Given the description of an element on the screen output the (x, y) to click on. 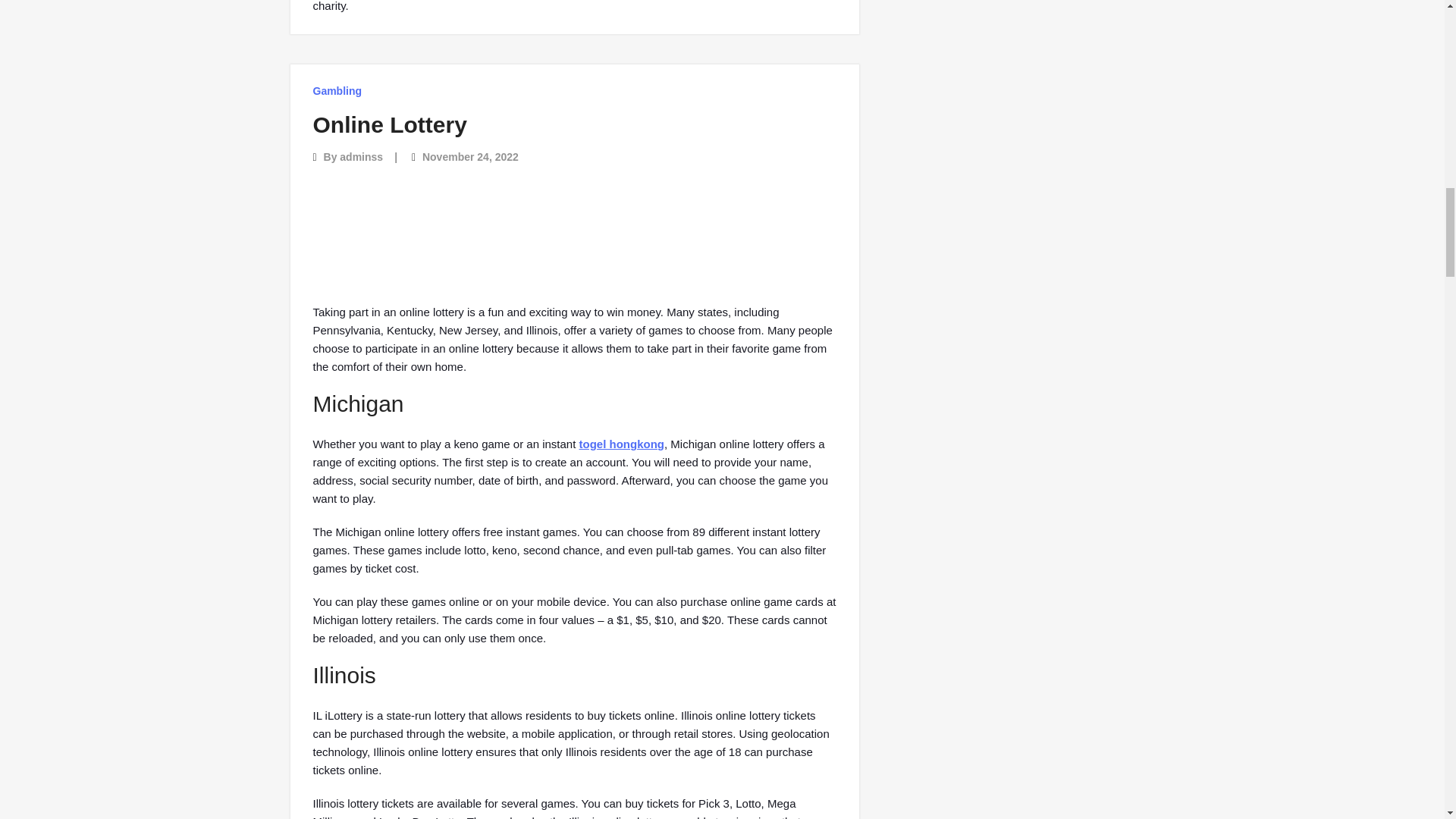
adminss (360, 156)
Online Lottery (389, 124)
November 24, 2022 (470, 156)
Gambling (337, 90)
togel hongkong (621, 443)
